Given the description of an element on the screen output the (x, y) to click on. 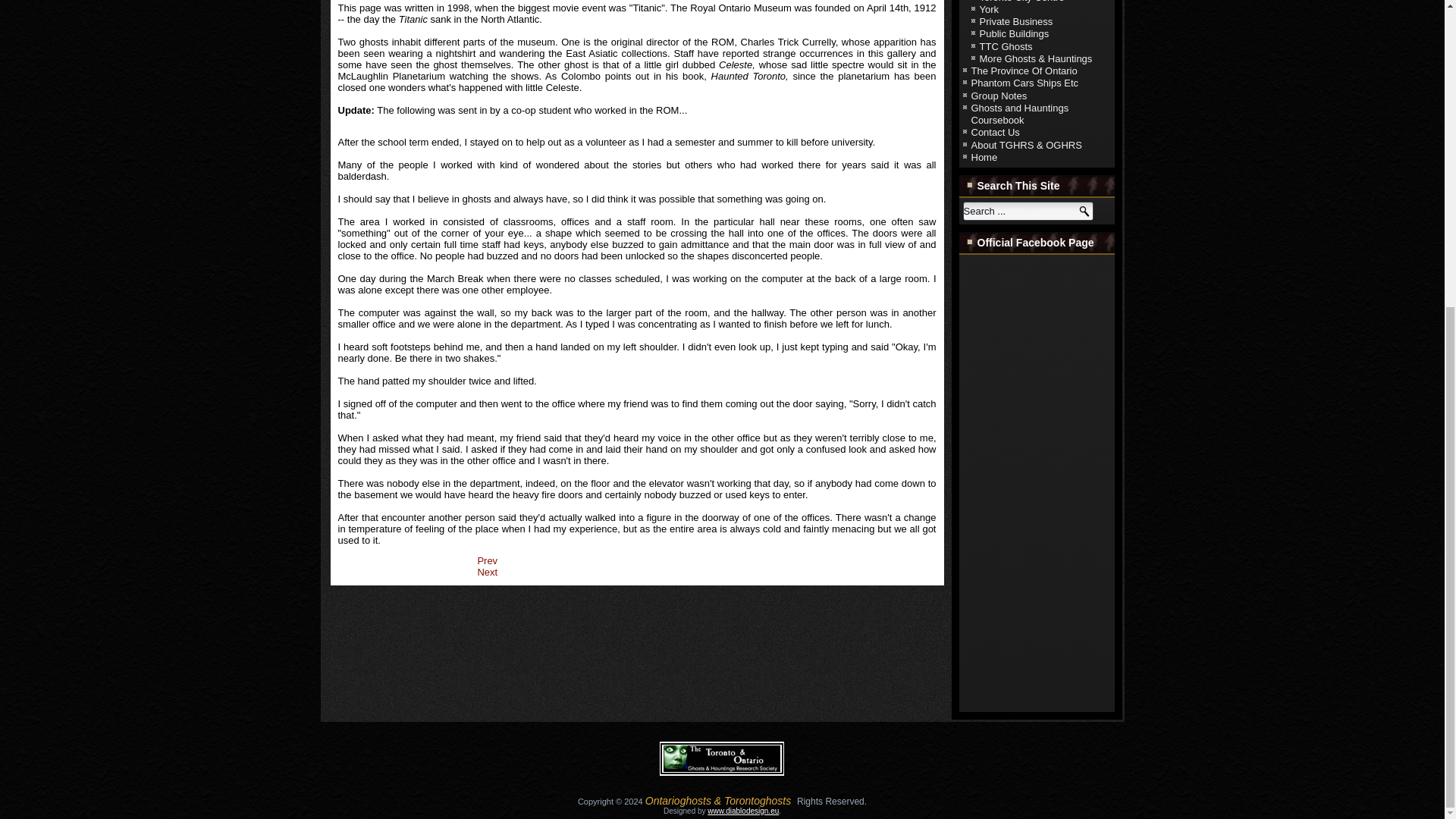
Private Business (1015, 21)
Phantom Cars Ships Etc (1024, 82)
Prev (487, 560)
York (988, 9)
Ghosts and Hauntings Coursebook (1019, 114)
www.diablodesign.eu (742, 810)
Search ... (1027, 210)
The Province Of Ontario (1024, 70)
Group Notes (998, 95)
Contact Us (995, 132)
